Given the description of an element on the screen output the (x, y) to click on. 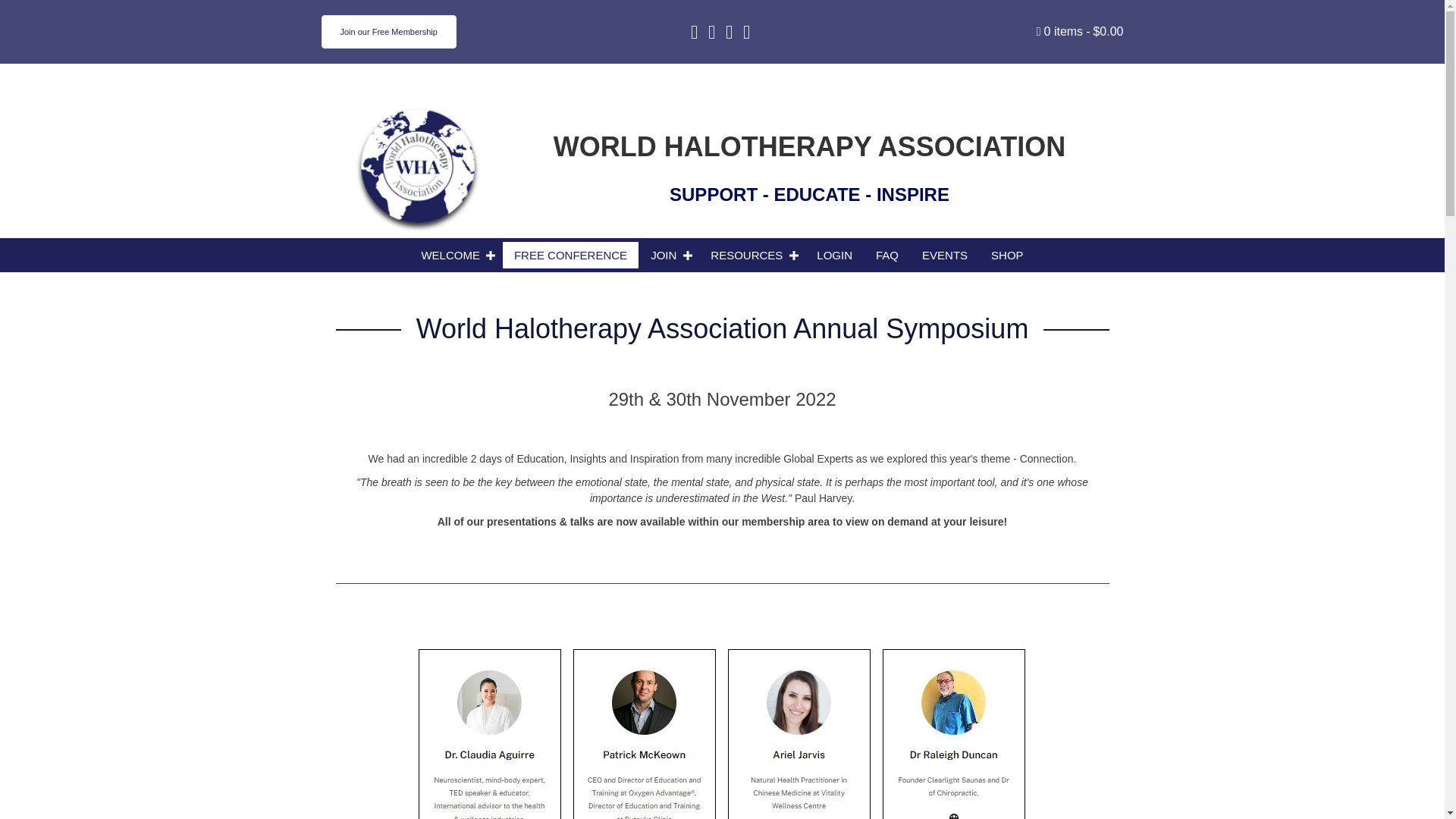
Join our Free Membership (389, 31)
FAQ (887, 254)
Screenshot 2022-10-21 163402 (721, 731)
Start shopping (1080, 31)
EVENTS (944, 254)
WELCOME (455, 254)
RESOURCES (751, 254)
LOGIN (834, 254)
JOIN (668, 254)
FREE CONFERENCE (570, 254)
